Given the description of an element on the screen output the (x, y) to click on. 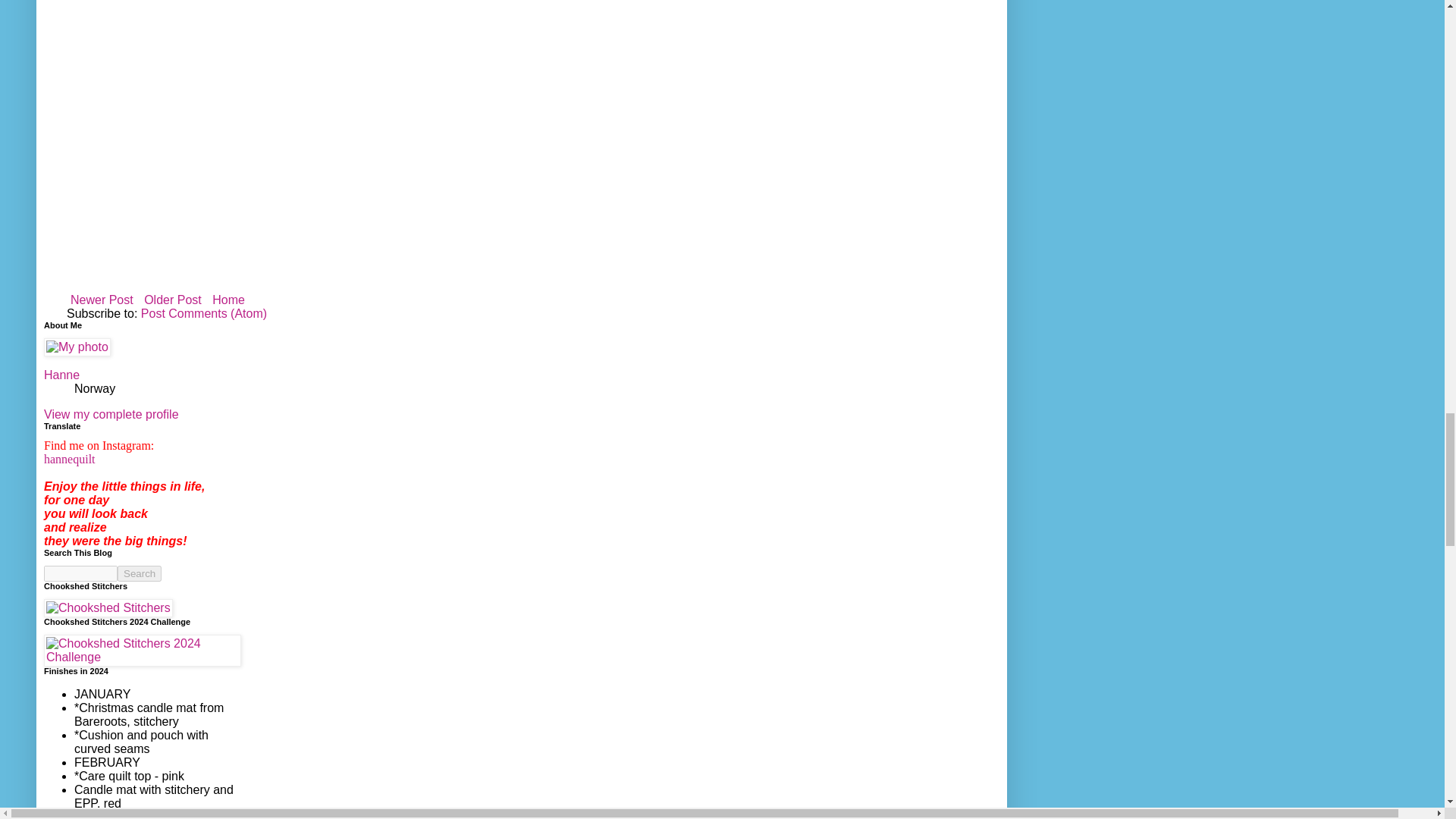
search (139, 573)
Older Post (172, 299)
Newer Post (101, 299)
Search (139, 573)
Search (139, 573)
search (80, 573)
